Given the description of an element on the screen output the (x, y) to click on. 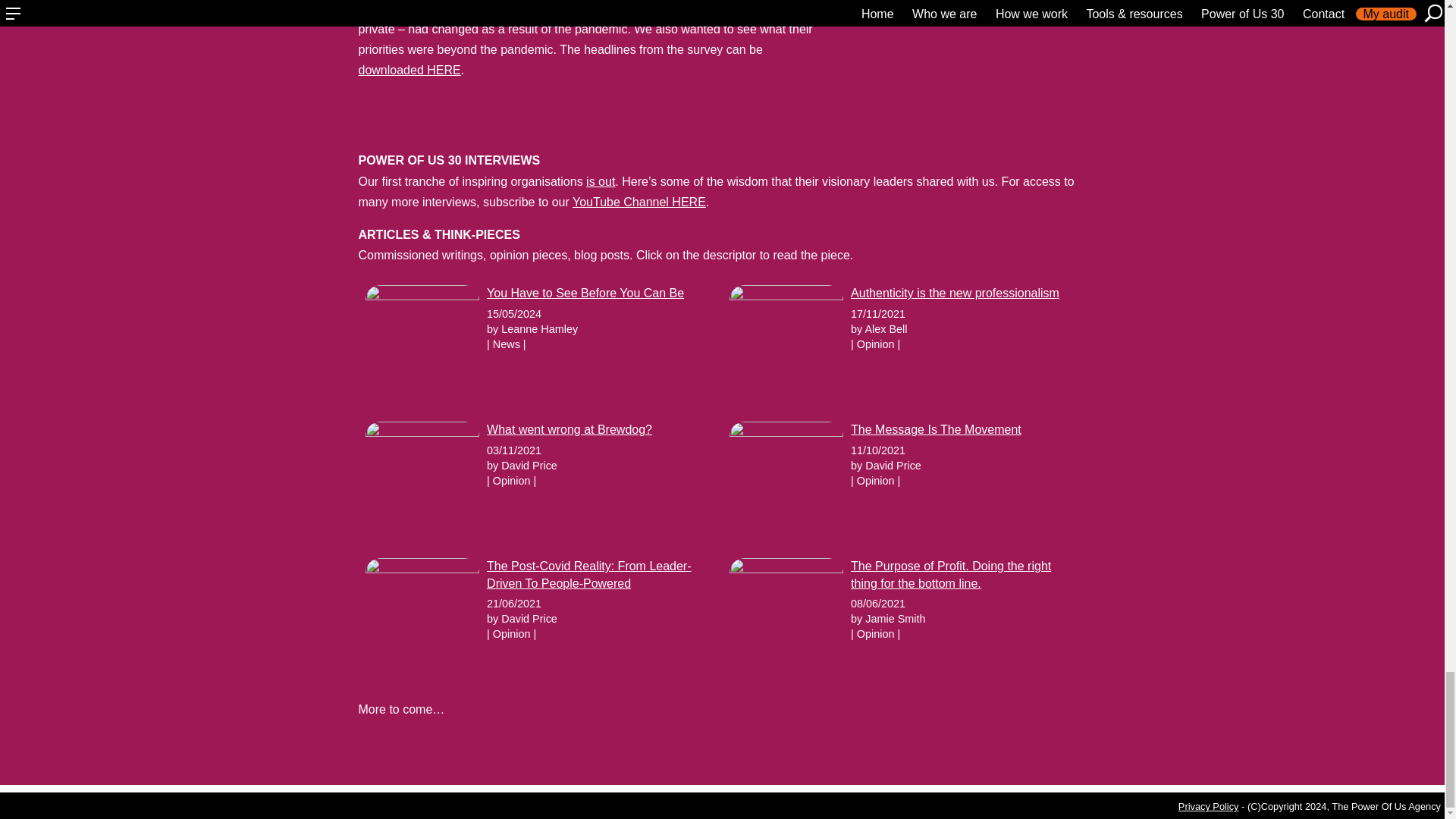
is out (600, 181)
downloaded HERE (409, 69)
YouTube Channel HERE (639, 201)
